Given the description of an element on the screen output the (x, y) to click on. 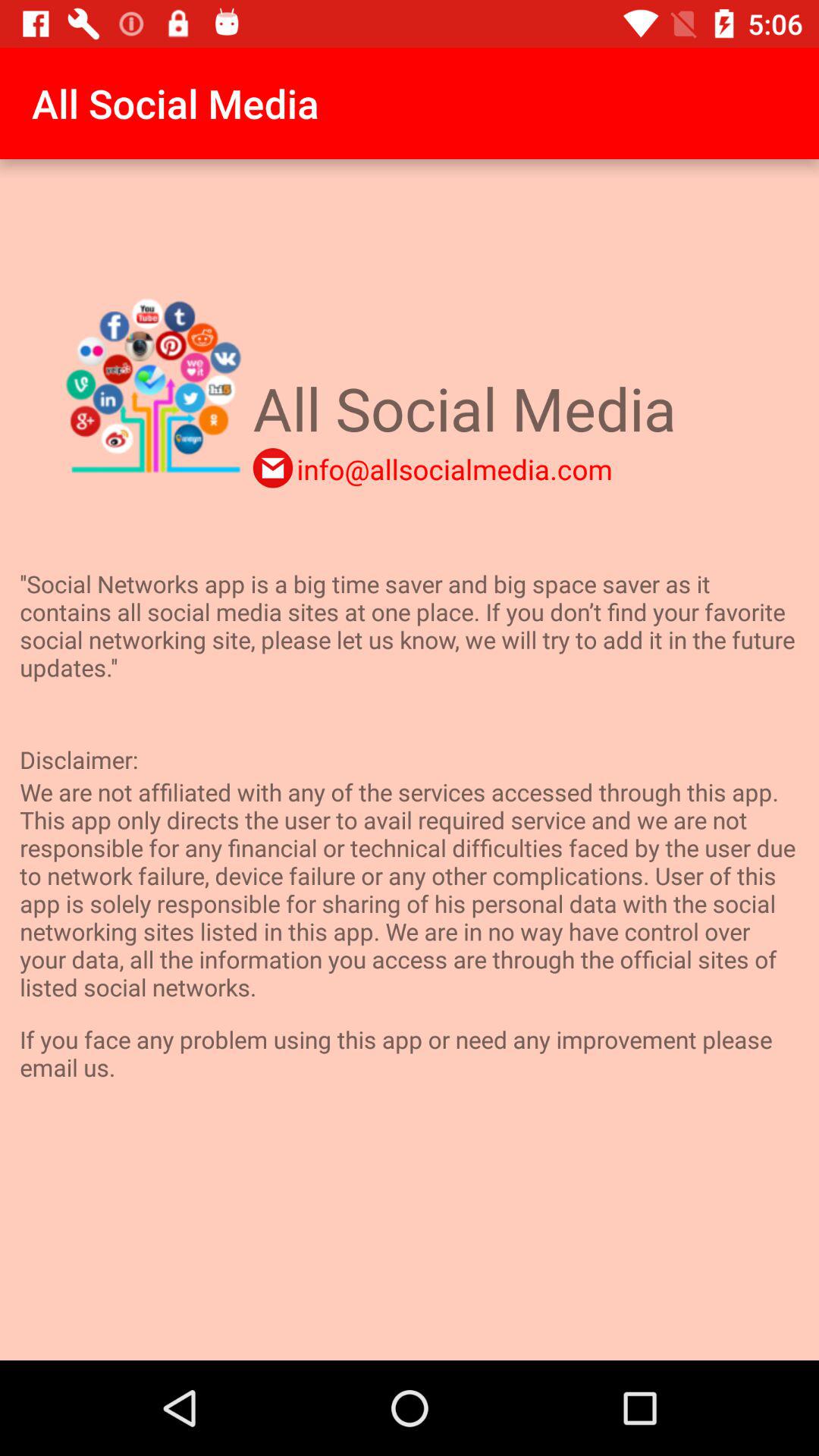
select the item above social networks app (272, 467)
